Given the description of an element on the screen output the (x, y) to click on. 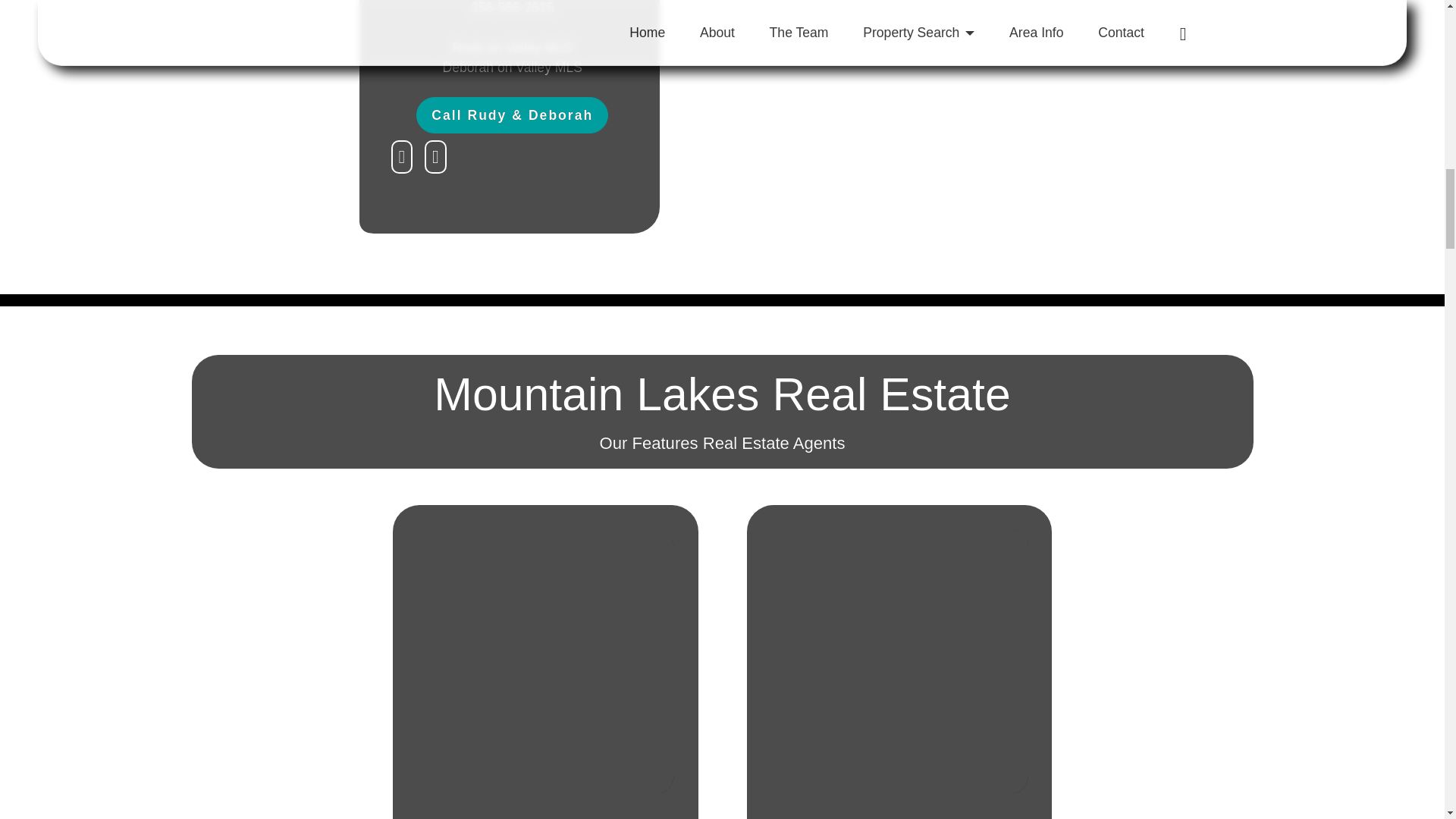
Deborah on Valley MLS (512, 67)
Rudy on Valley MLS (512, 47)
256-506-2615 (512, 7)
